Given the description of an element on the screen output the (x, y) to click on. 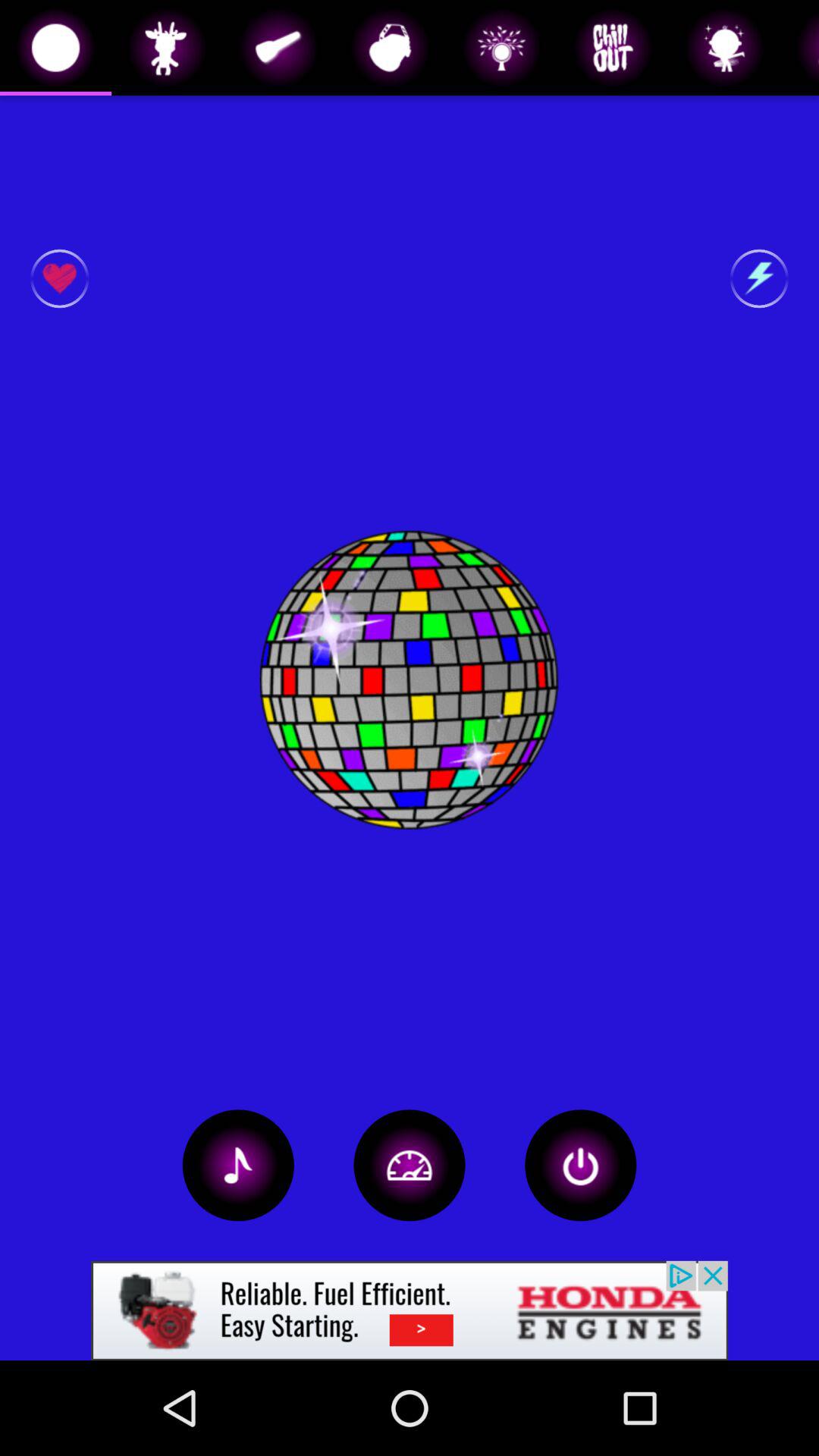
advertisement banner (409, 1310)
